Given the description of an element on the screen output the (x, y) to click on. 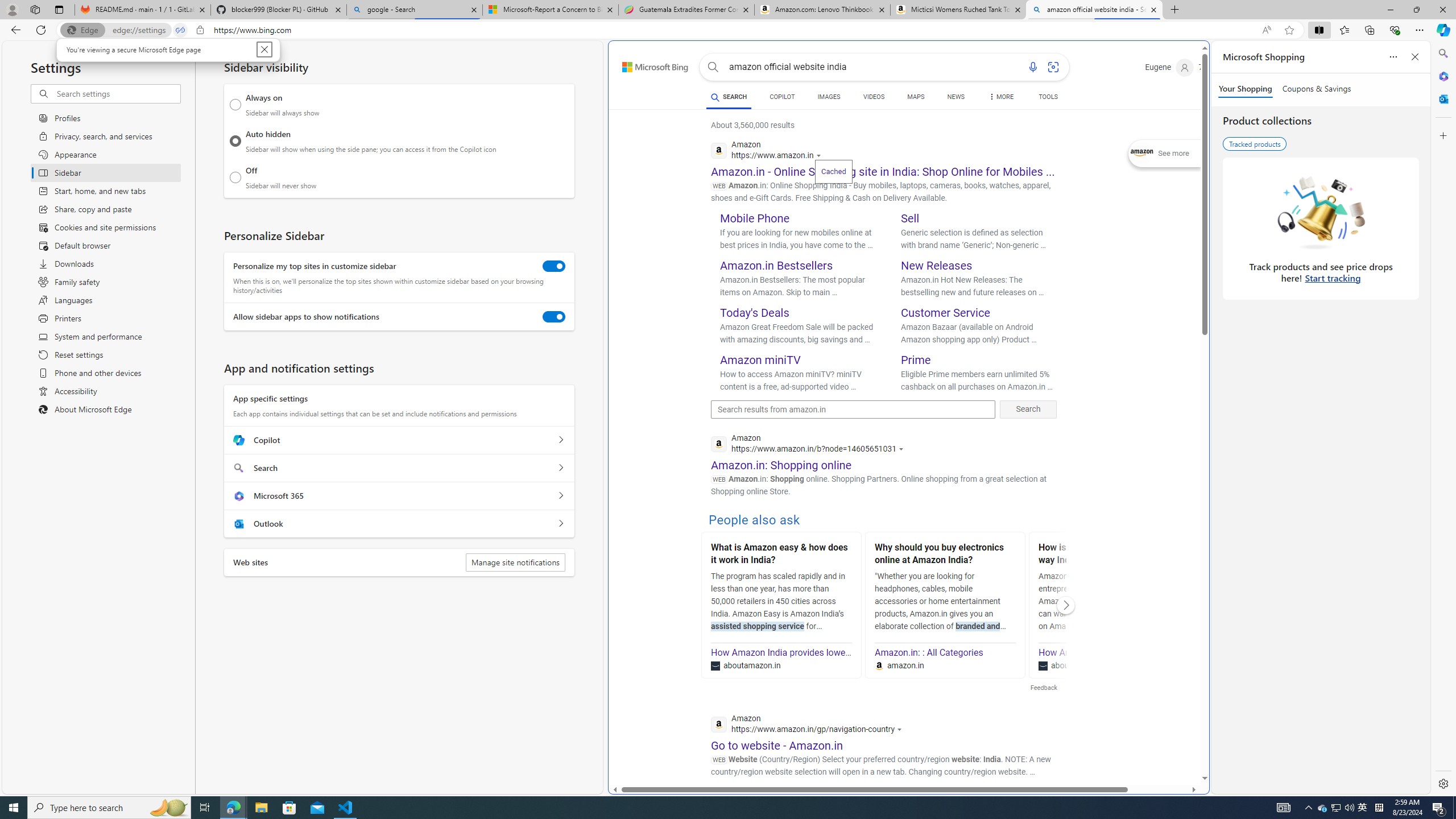
Mobile Phone (755, 218)
Amazon.in: : All Categories (928, 652)
MAPS (915, 96)
